Given the description of an element on the screen output the (x, y) to click on. 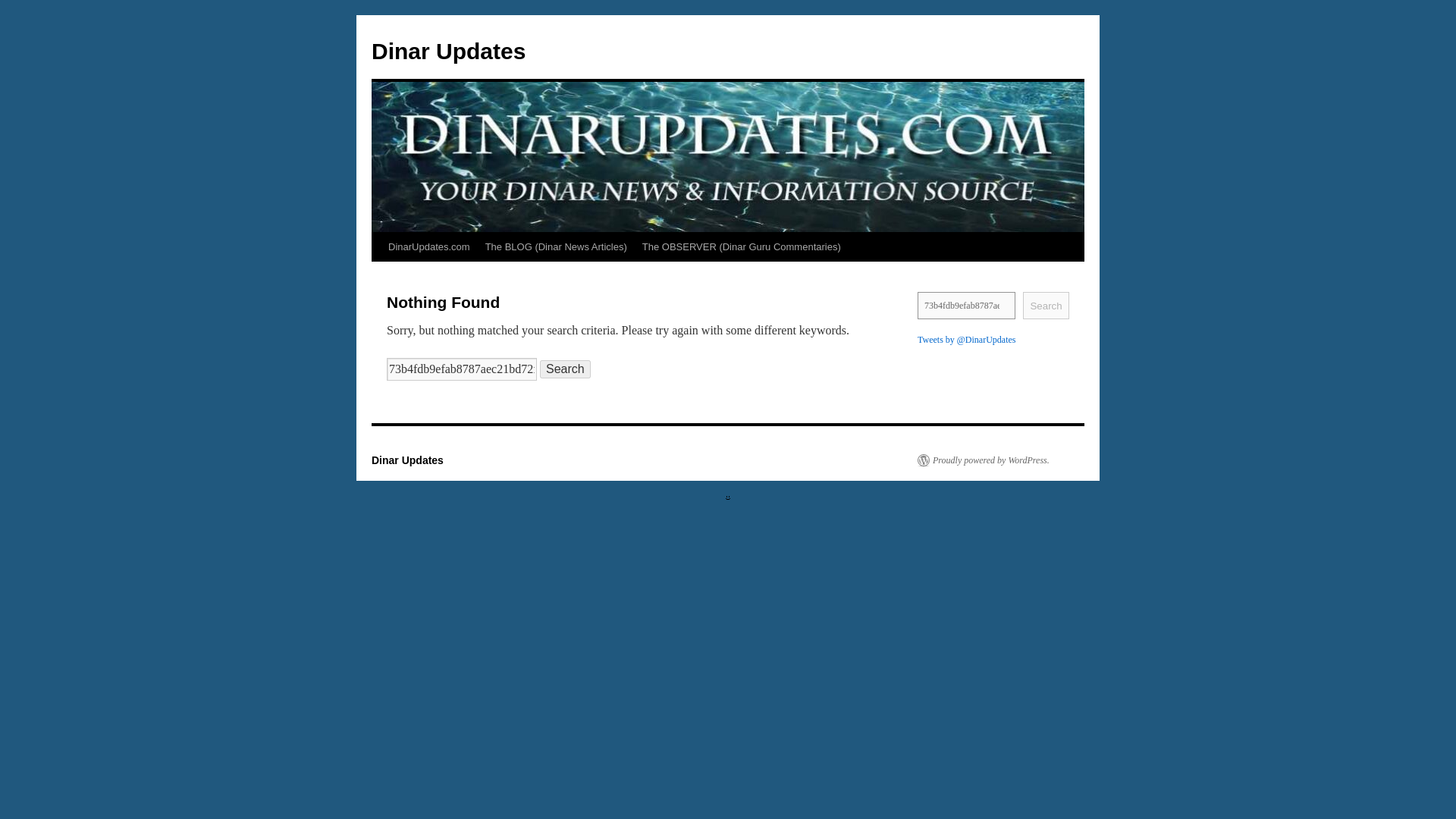
Search (565, 369)
Dinar Updates (407, 460)
Dinar Updates (448, 50)
Proudly powered by WordPress. (983, 460)
73b4fdb9efab8787aec21bd72fb6ab98 (965, 305)
73b4fdb9efab8787aec21bd72fb6ab98 (462, 368)
Search (565, 369)
73b4fdb9efab8787aec21bd72fb6ab98 (965, 305)
DinarUpdates.com (428, 246)
Semantic Personal Publishing Platform (983, 460)
Search (1045, 305)
